Given the description of an element on the screen output the (x, y) to click on. 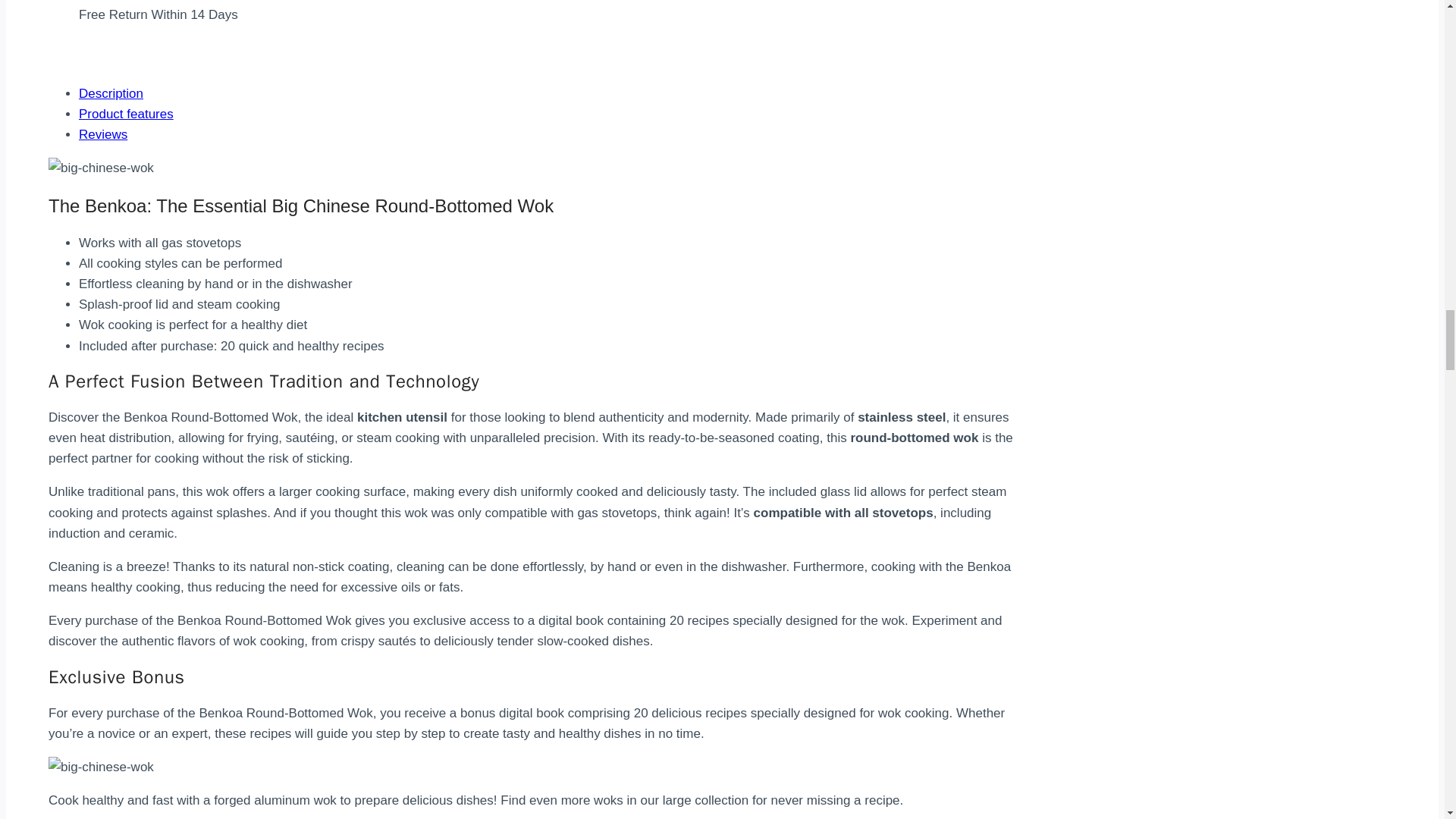
Description (110, 93)
Product features (125, 114)
big-chinese-wok (101, 766)
big-chinese-wok (101, 168)
Reviews (103, 134)
